Given the description of an element on the screen output the (x, y) to click on. 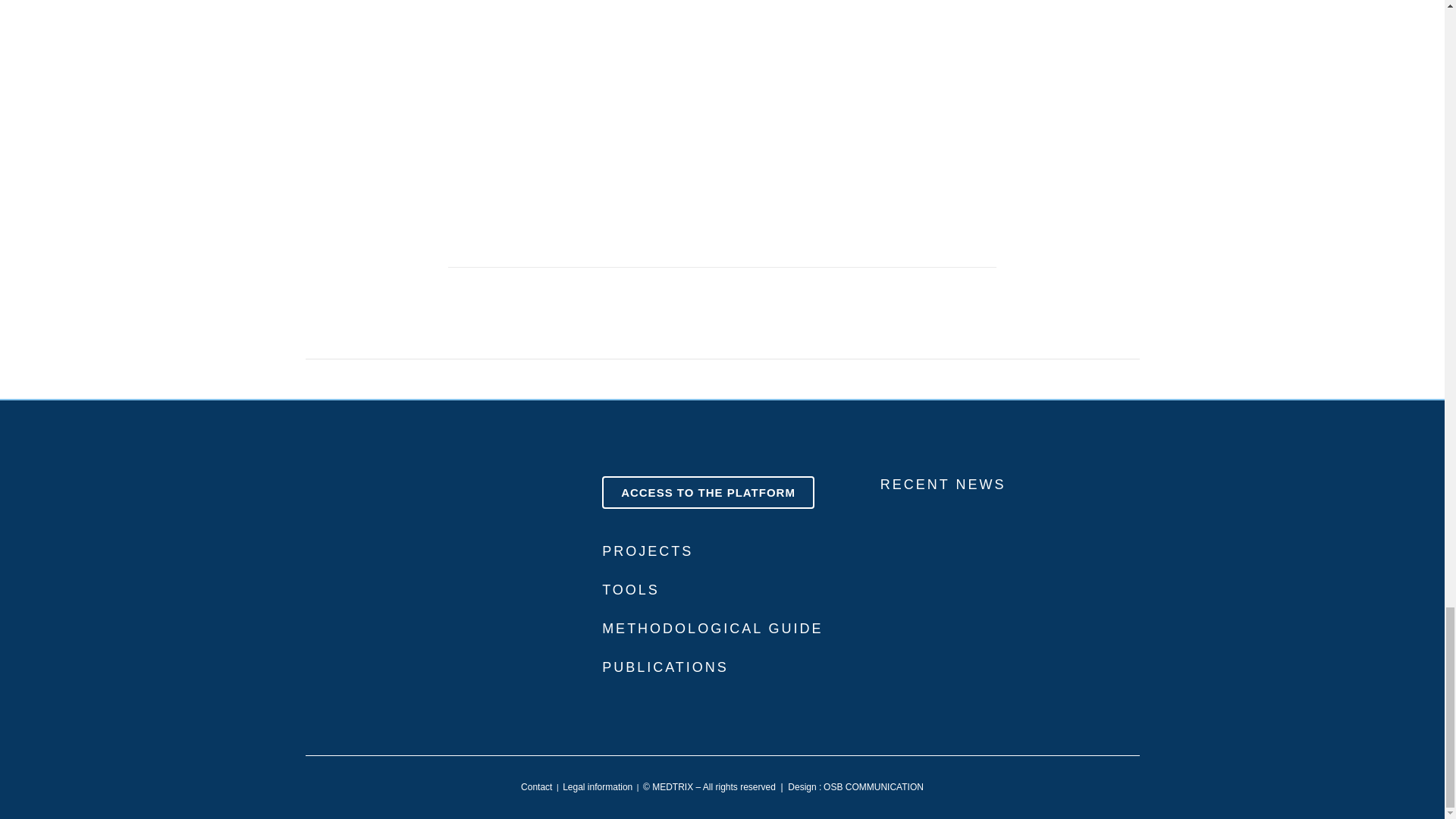
Agence de communication montpellier (873, 787)
Legal information (596, 787)
METHODOLOGICAL GUIDE (712, 628)
PROJECTS (647, 550)
ACCESS TO THE PLATFORM (707, 491)
PUBLICATIONS (665, 667)
OSB COMMUNICATION (873, 787)
TOOLS (630, 589)
Contact (536, 787)
